Given the description of an element on the screen output the (x, y) to click on. 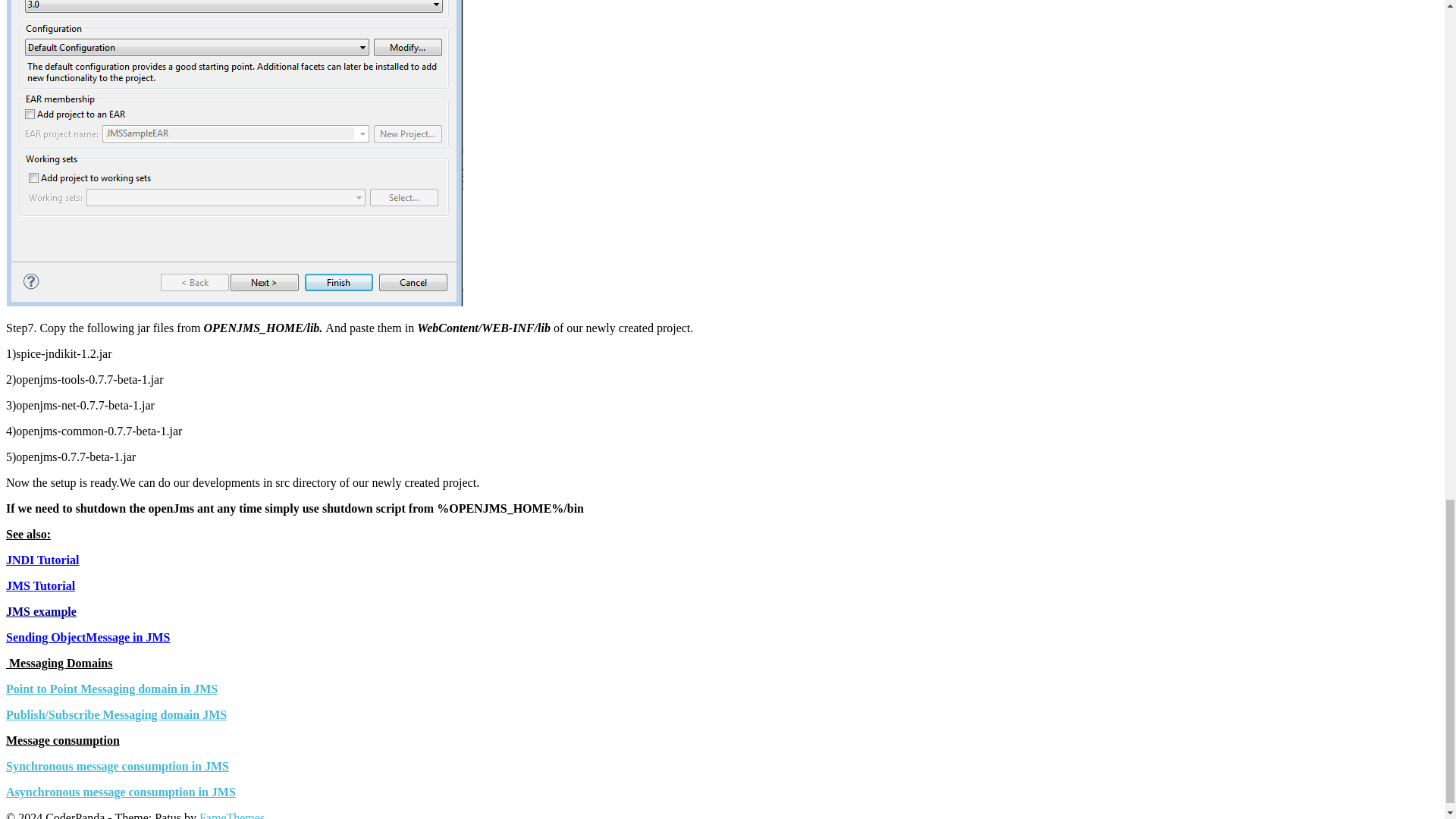
Asynchronous message consumption in JMS (120, 791)
JNDI Tutorial (41, 559)
JMS Tutorial-JMS example (41, 611)
Sending ObjectMessage in JMS (87, 636)
JMS Tutorial-Sending object as message in JMS (87, 636)
Point to Point Messaging domain in JMS (110, 688)
Synchronous message consumption in JMS (116, 766)
JMS example (41, 611)
